Given the description of an element on the screen output the (x, y) to click on. 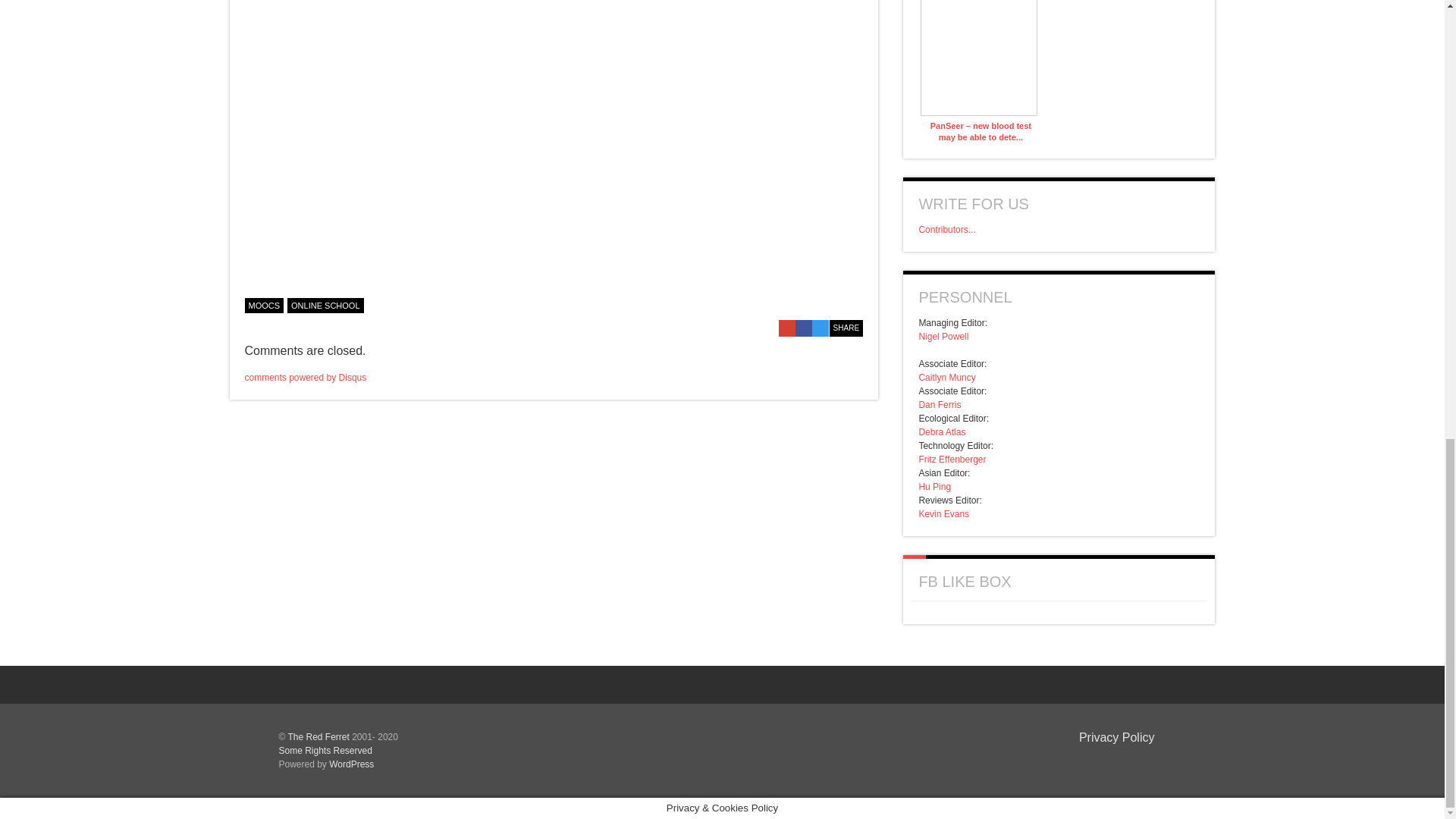
Dan Ferris (939, 404)
Debra Atlas (941, 431)
MOOCS (263, 305)
ONLINE SCHOOL (324, 305)
Hu Ping (934, 486)
Fritz Effenberger (951, 459)
Built by Bairwell (1130, 761)
SHARE (846, 328)
I like this article (855, 303)
Caitlyn Muncy (946, 377)
